Given the description of an element on the screen output the (x, y) to click on. 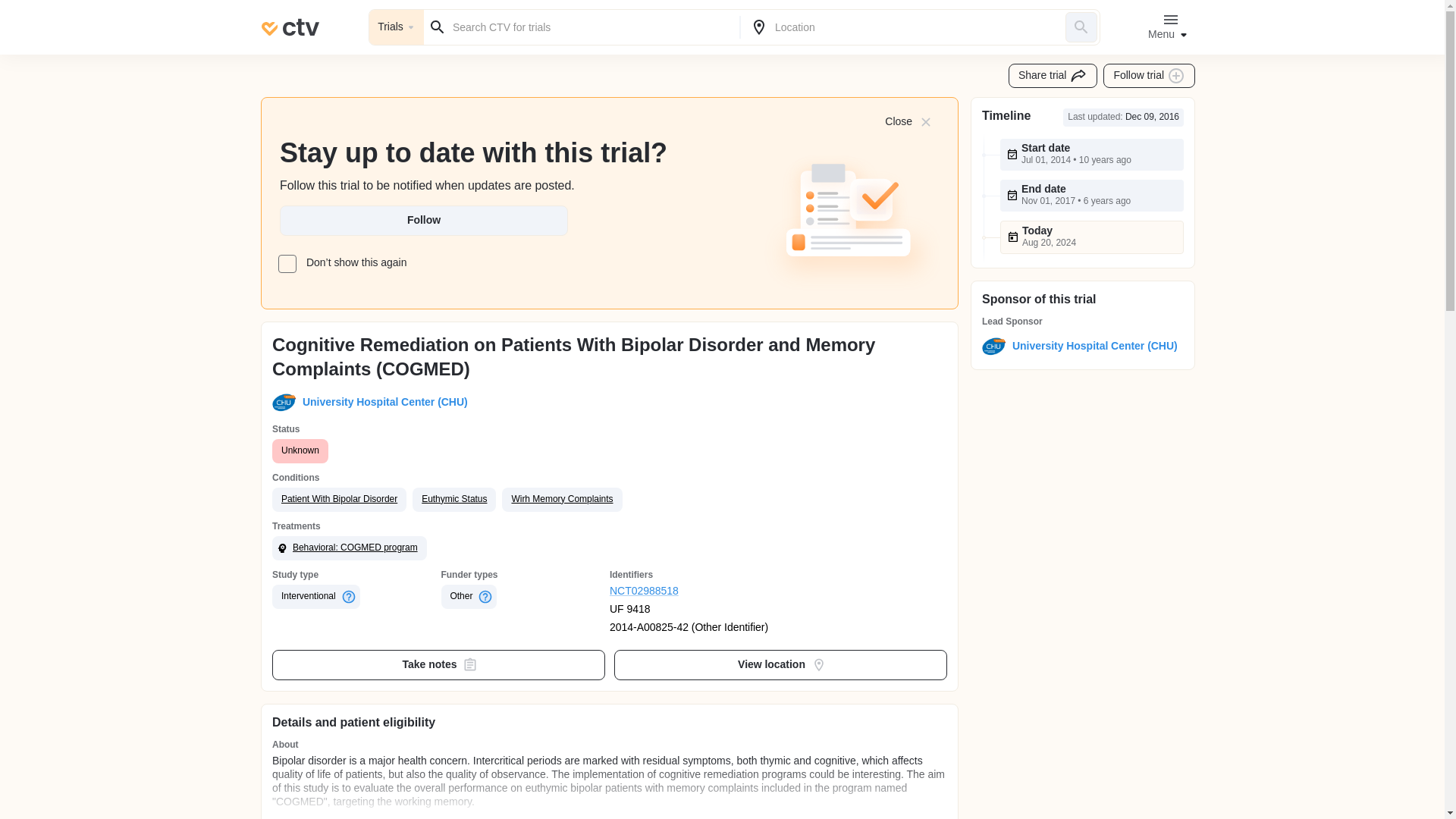
Take notes (438, 665)
Follow (423, 220)
Close (907, 121)
NCT02988518 (694, 591)
View location (780, 665)
Trials (396, 27)
Share trial (1053, 75)
Follow trial (1149, 75)
